Given the description of an element on the screen output the (x, y) to click on. 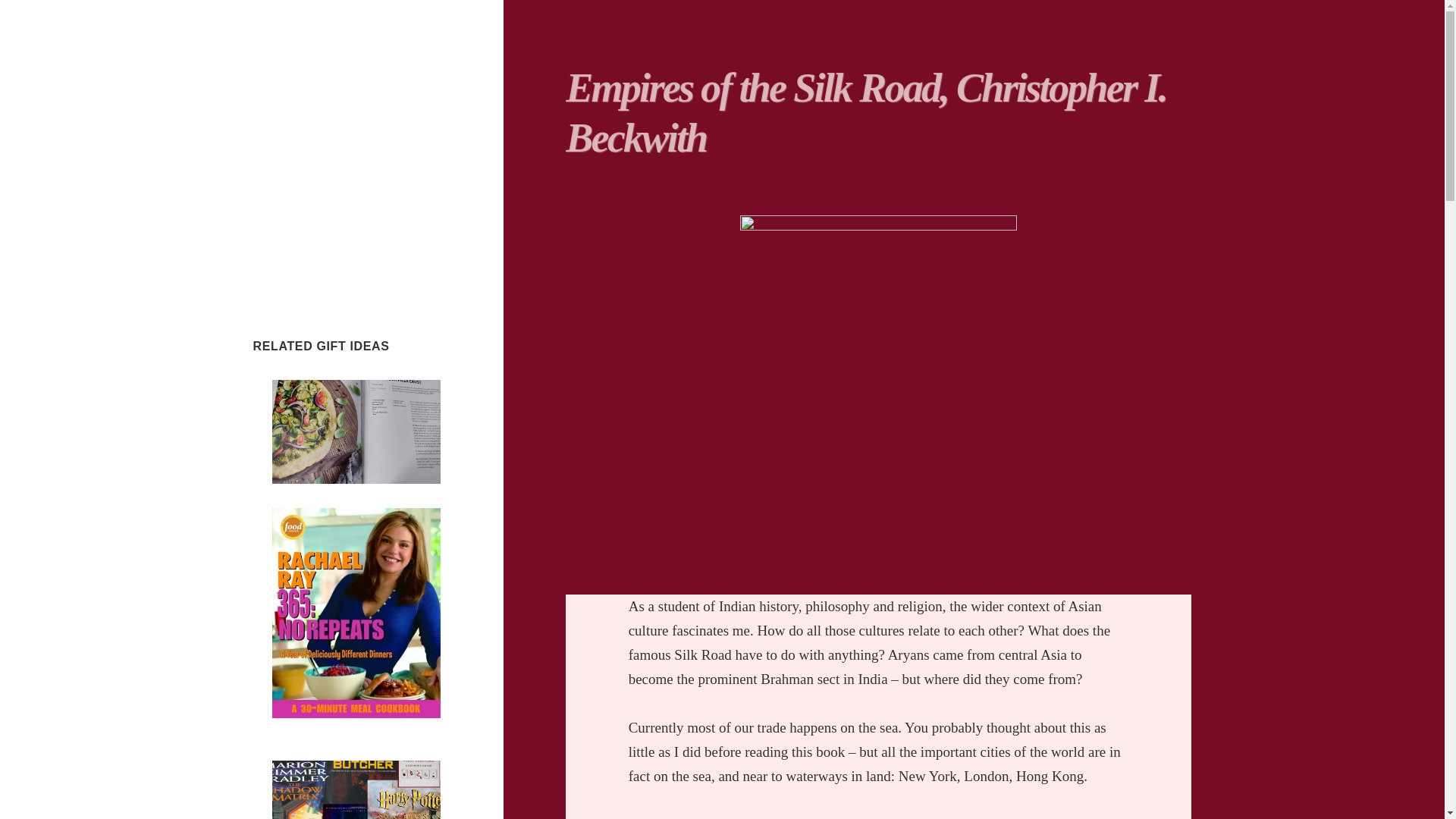
Katinka's Christmas Gifts Recommendations 2022, 2023 (341, 126)
Best Selling Vegan Cookbooks (347, 492)
Top 10 Cookbooks Bestsellers 2022 (346, 735)
